Given the description of an element on the screen output the (x, y) to click on. 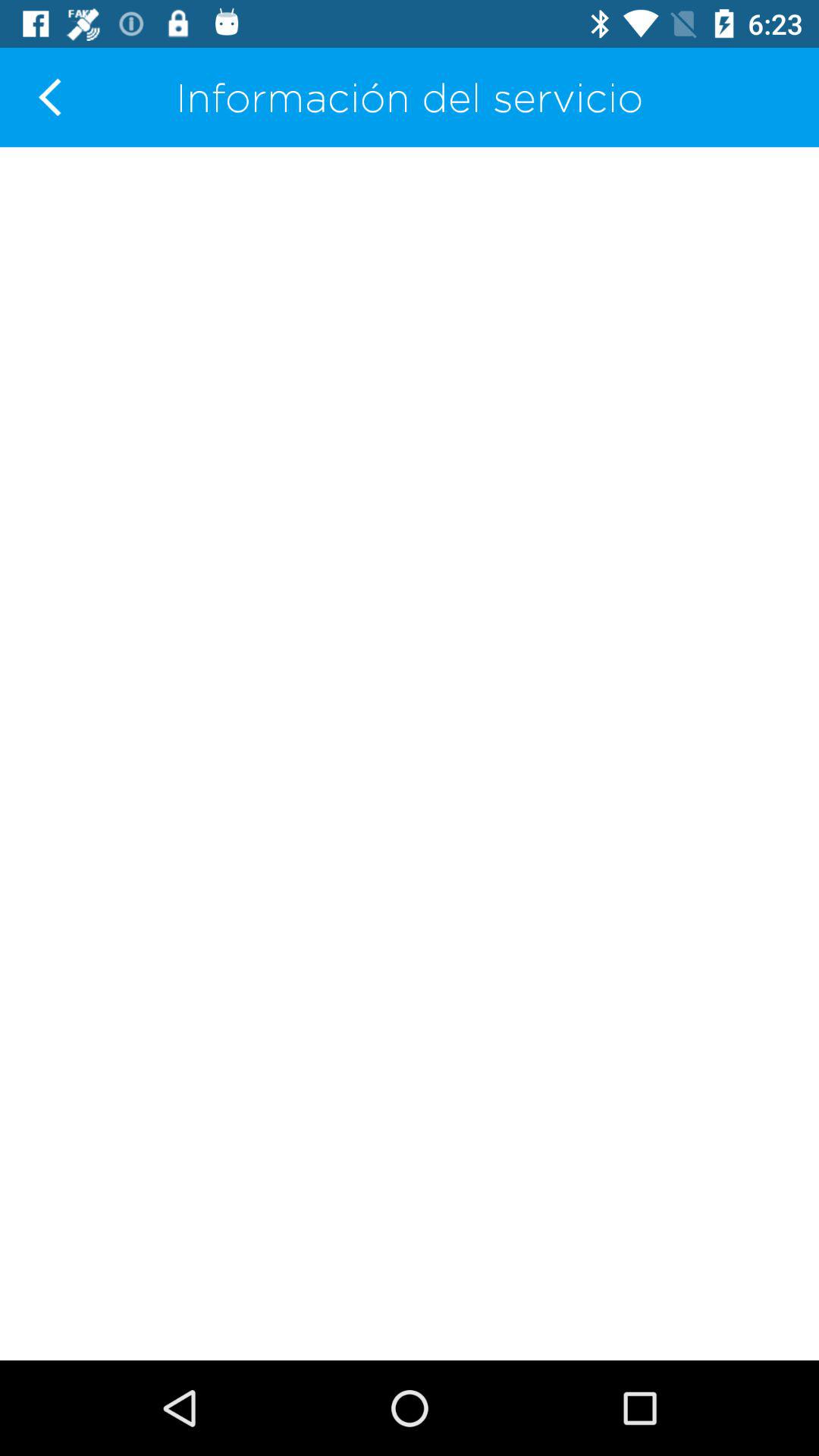
open the icon at the center (409, 753)
